Given the description of an element on the screen output the (x, y) to click on. 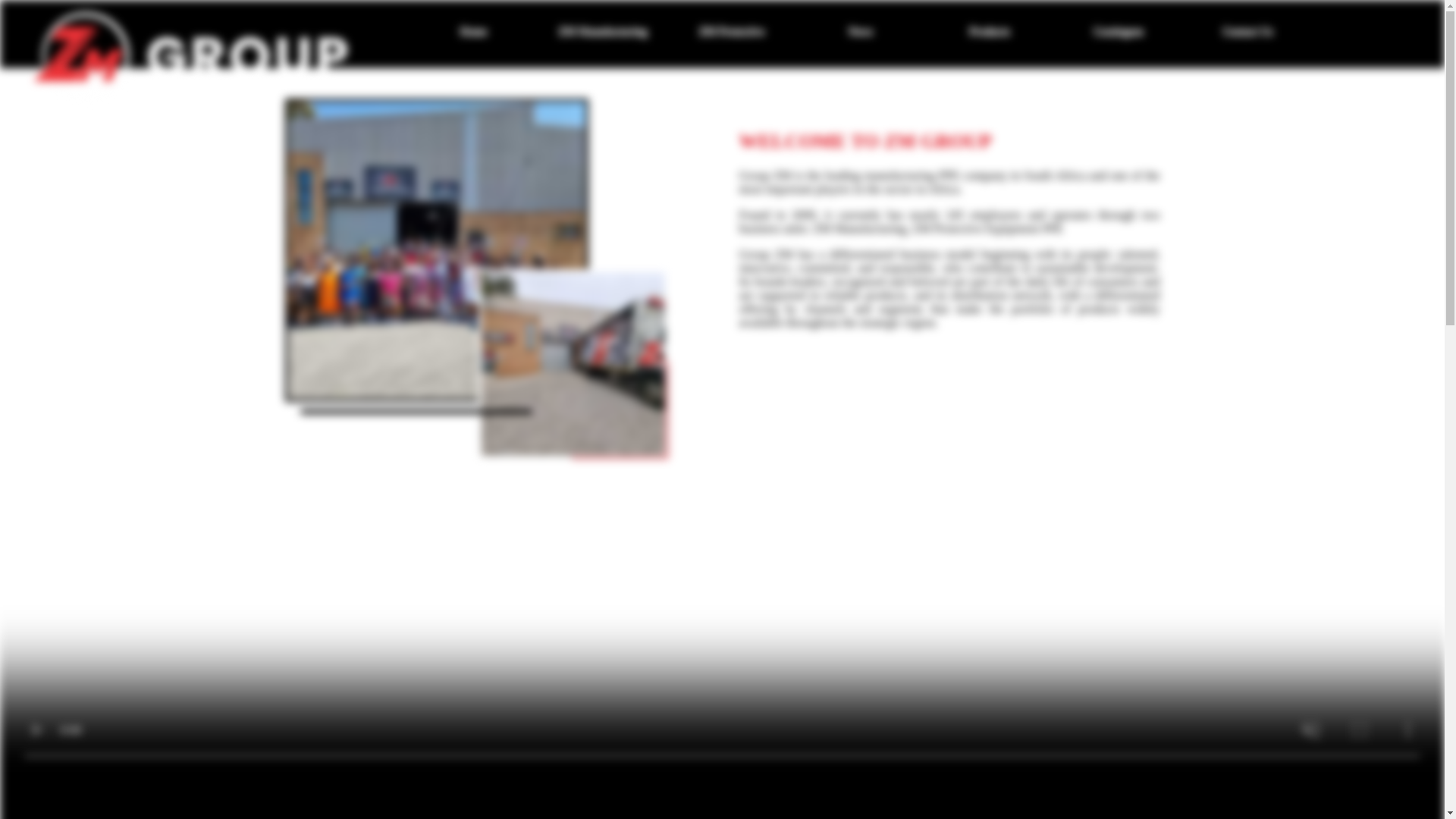
Catalogues (1118, 31)
IMG-20210923 (436, 249)
News (860, 31)
ZM Protective (731, 31)
Contact Us (1246, 31)
Products (989, 31)
WhatsApp Ima (571, 363)
ZM Manufacturing (602, 31)
Home (473, 31)
